Given the description of an element on the screen output the (x, y) to click on. 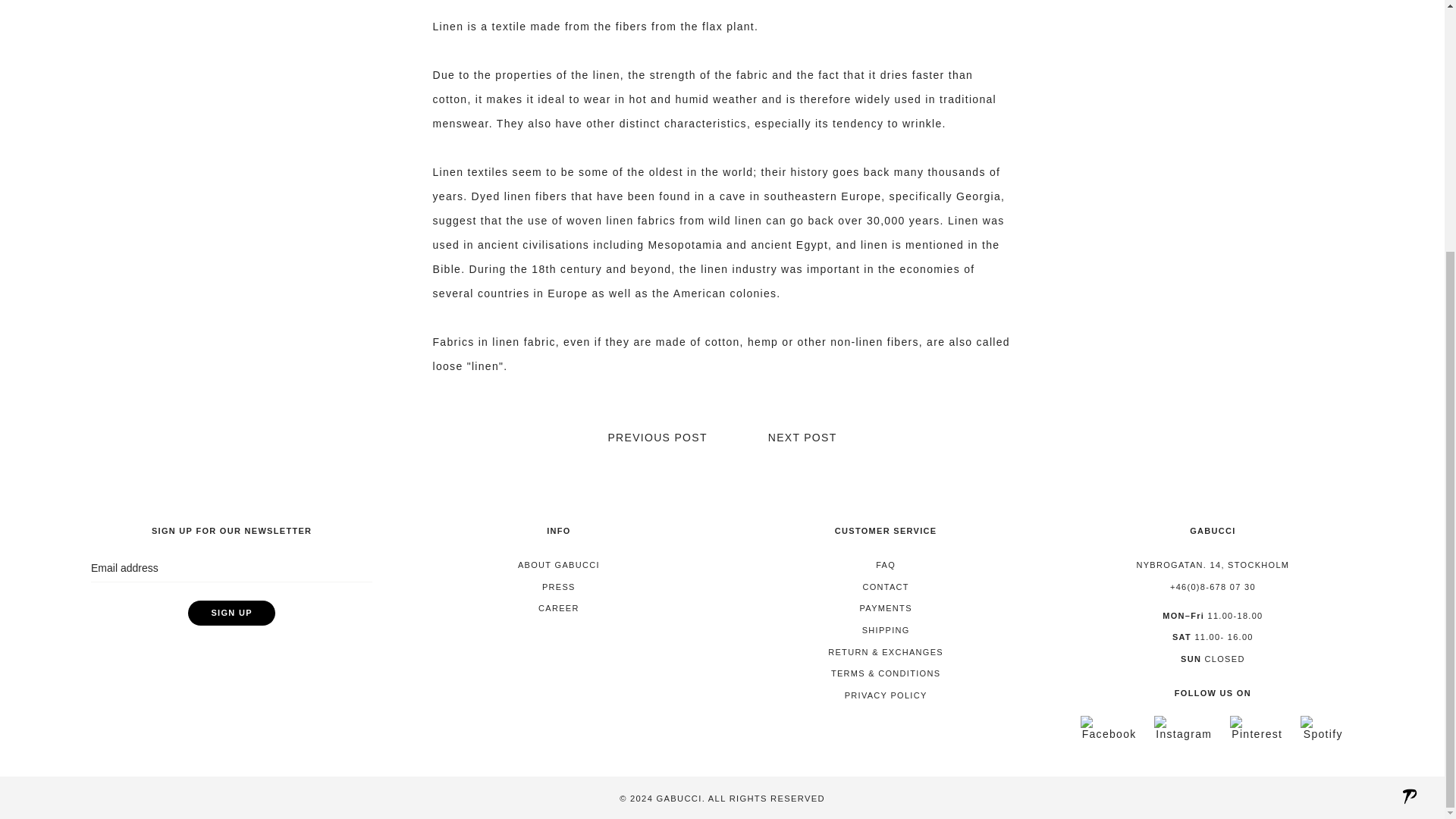
Gabucci on Instagram (1183, 734)
Gabucci on Pinterest (1257, 734)
Gabucci on Facebook (1109, 734)
